Given the description of an element on the screen output the (x, y) to click on. 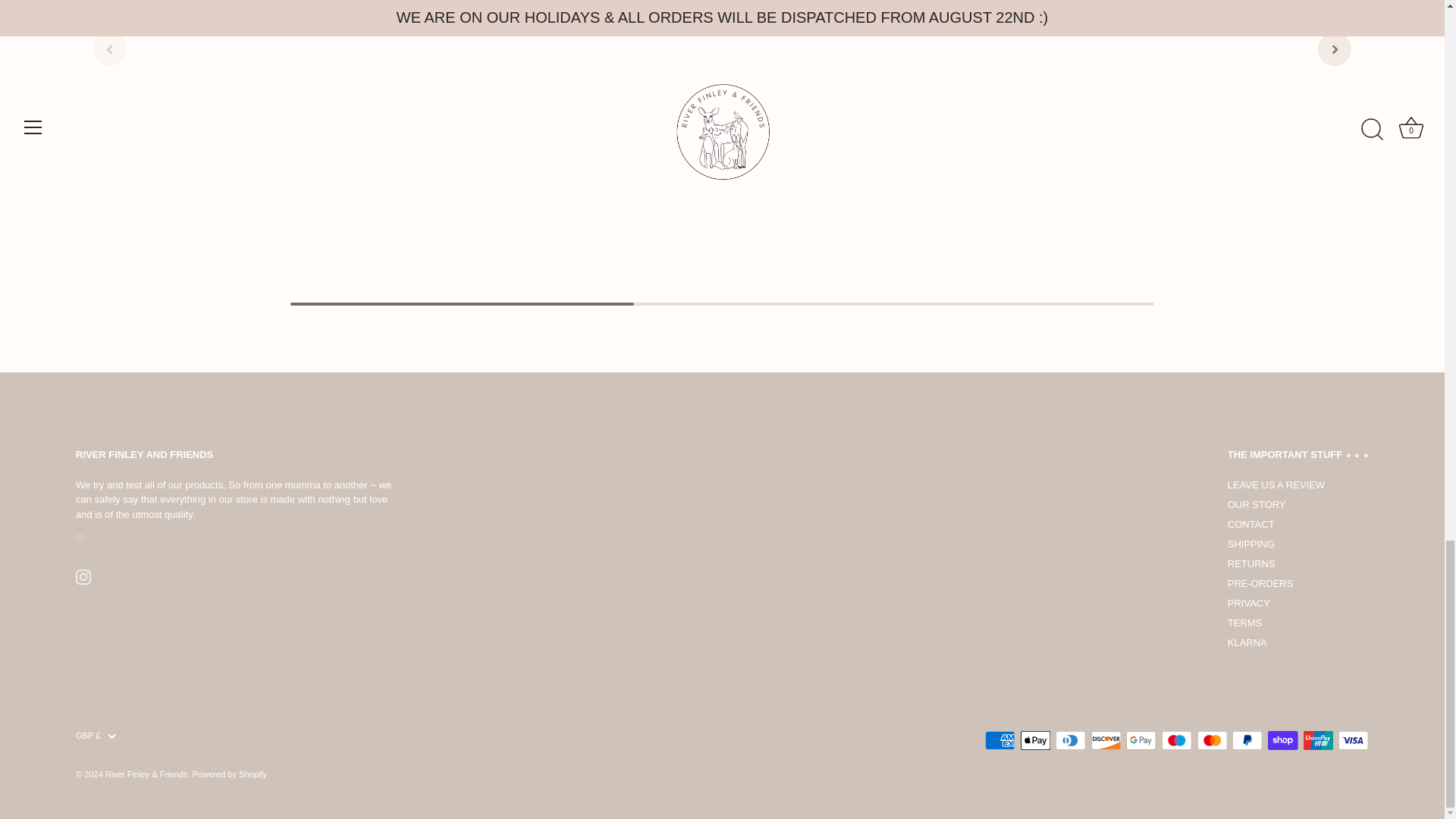
Discover (1105, 740)
American Express (999, 740)
PayPal (1246, 740)
Diners Club (1070, 740)
Shop Pay (1282, 740)
Maestro (1176, 740)
Google Pay (1140, 740)
Instagram (82, 576)
Apple Pay (1035, 740)
Union Pay (1318, 740)
